Given the description of an element on the screen output the (x, y) to click on. 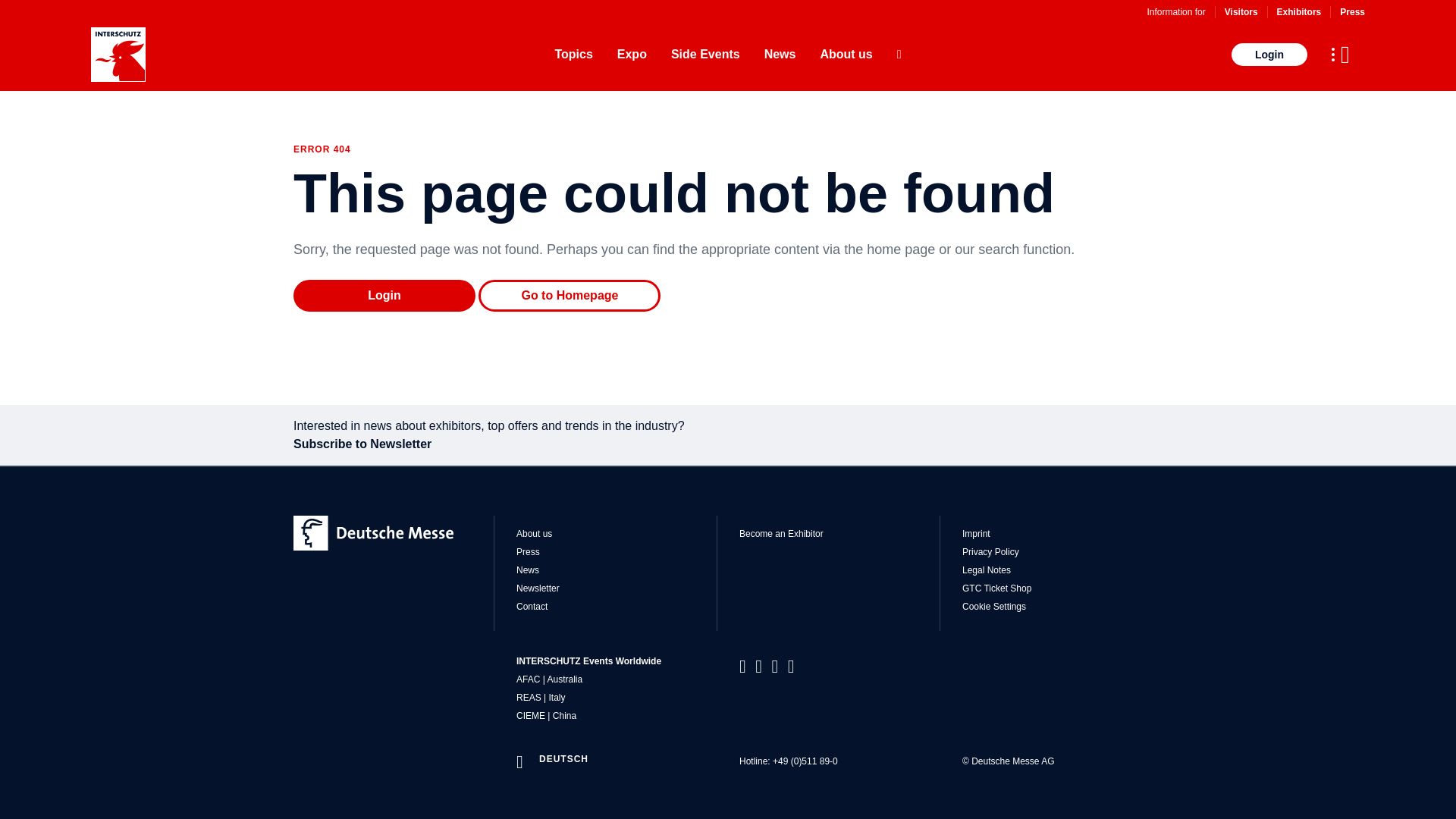
Visitors (1240, 11)
Cookie Settings (1061, 606)
Privacy Policy (1061, 551)
About us (616, 533)
Go to Homepage (570, 296)
News (780, 54)
Expo (631, 54)
Become an Exhibitor (839, 533)
Contact (616, 606)
Imprint (1061, 533)
